Given the description of an element on the screen output the (x, y) to click on. 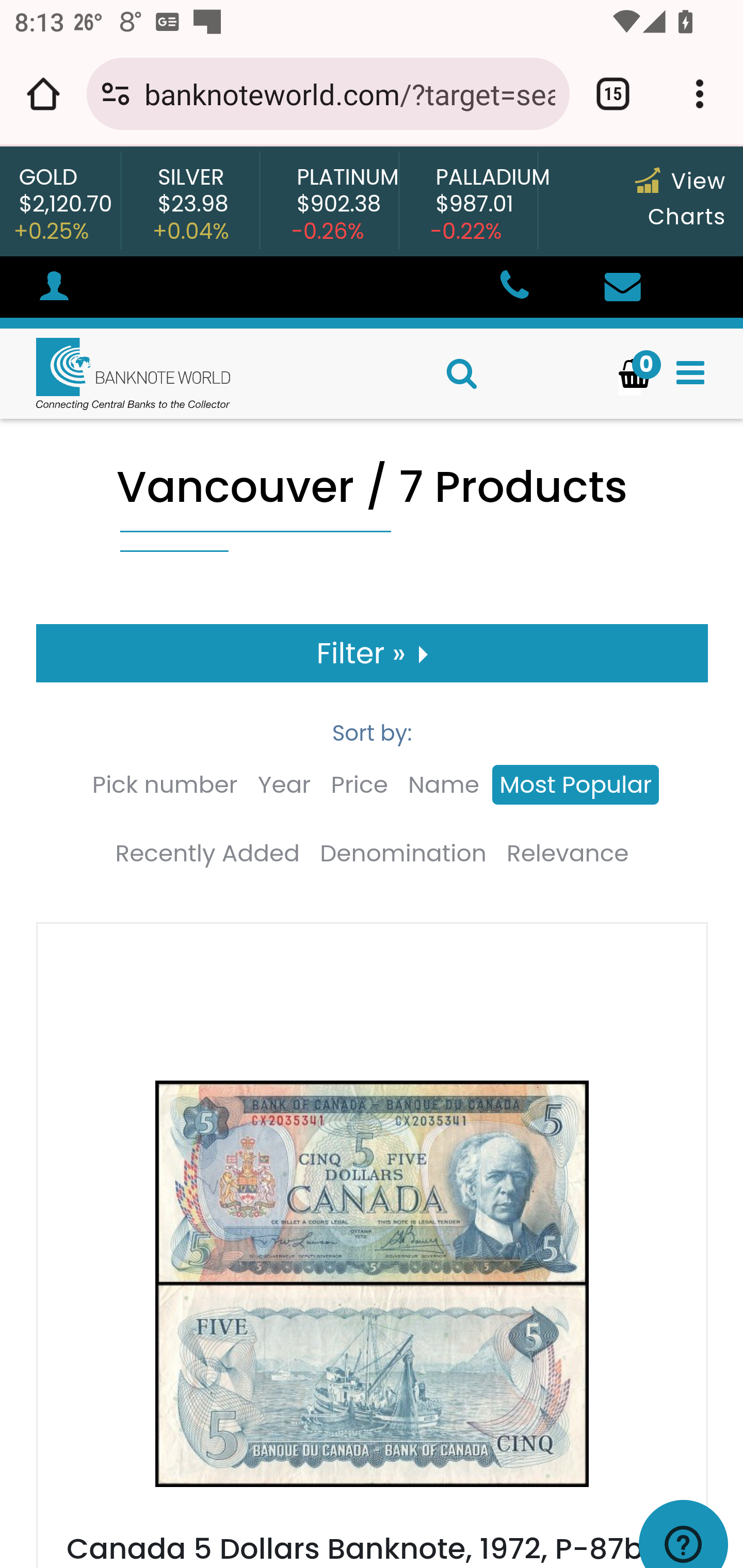
Open the home page (43, 93)
Connection is secure (115, 93)
Switch or close tabs (612, 93)
Customize and control Google Chrome (699, 93)
View Charts (680, 199)
 (513, 287)
 (622, 287)
# (54, 289)
Home (115, 373)
 (690, 373)
Filter »  (372, 652)
Pick number (164, 784)
Year (283, 784)
Price (359, 784)
Name (444, 784)
Most Popular (576, 784)
Recently Added (206, 853)
Denomination (403, 853)
Relevance (567, 853)
Canada 5 Dollars Banknote, 1972, P-87b, Used (371, 1296)
Canada 5 Dollars Banknote, 1972, P-87b, Used (358, 1547)
